Given the description of an element on the screen output the (x, y) to click on. 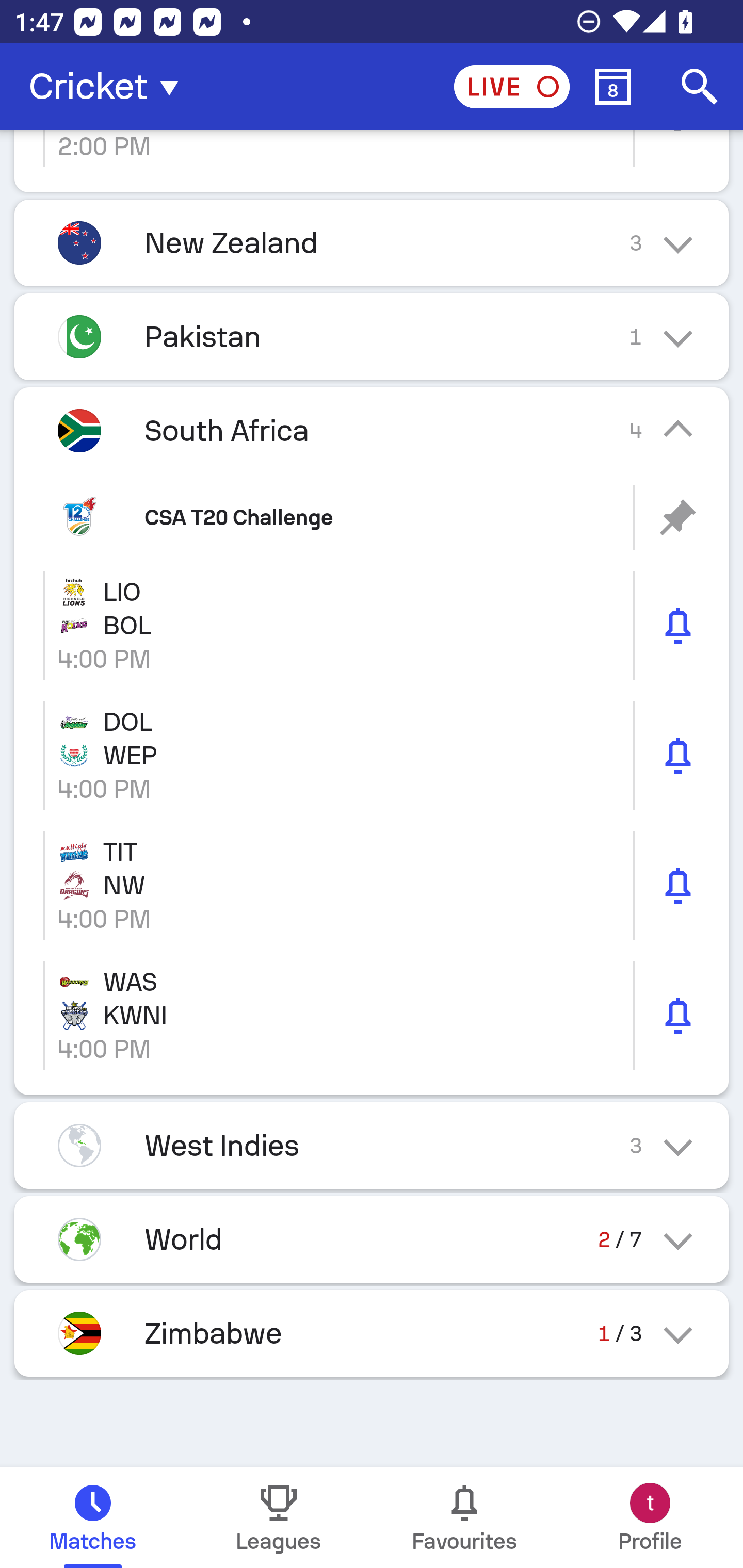
Cricket (109, 86)
Calendar (612, 86)
Search (699, 86)
New Zealand 3 (371, 242)
Pakistan 1 (371, 336)
South Africa 4 (371, 430)
CSA T20 Challenge (371, 517)
LIO BOL 4:00 PM (371, 625)
DOL WEP 4:00 PM (371, 754)
TIT NW 4:00 PM (371, 885)
WAS KWNI 4:00 PM (371, 1015)
West Indies 3 (371, 1145)
World 2 / 7 (371, 1239)
Zimbabwe 1 / 3 (371, 1333)
Leagues (278, 1517)
Favourites (464, 1517)
Profile (650, 1517)
